Given the description of an element on the screen output the (x, y) to click on. 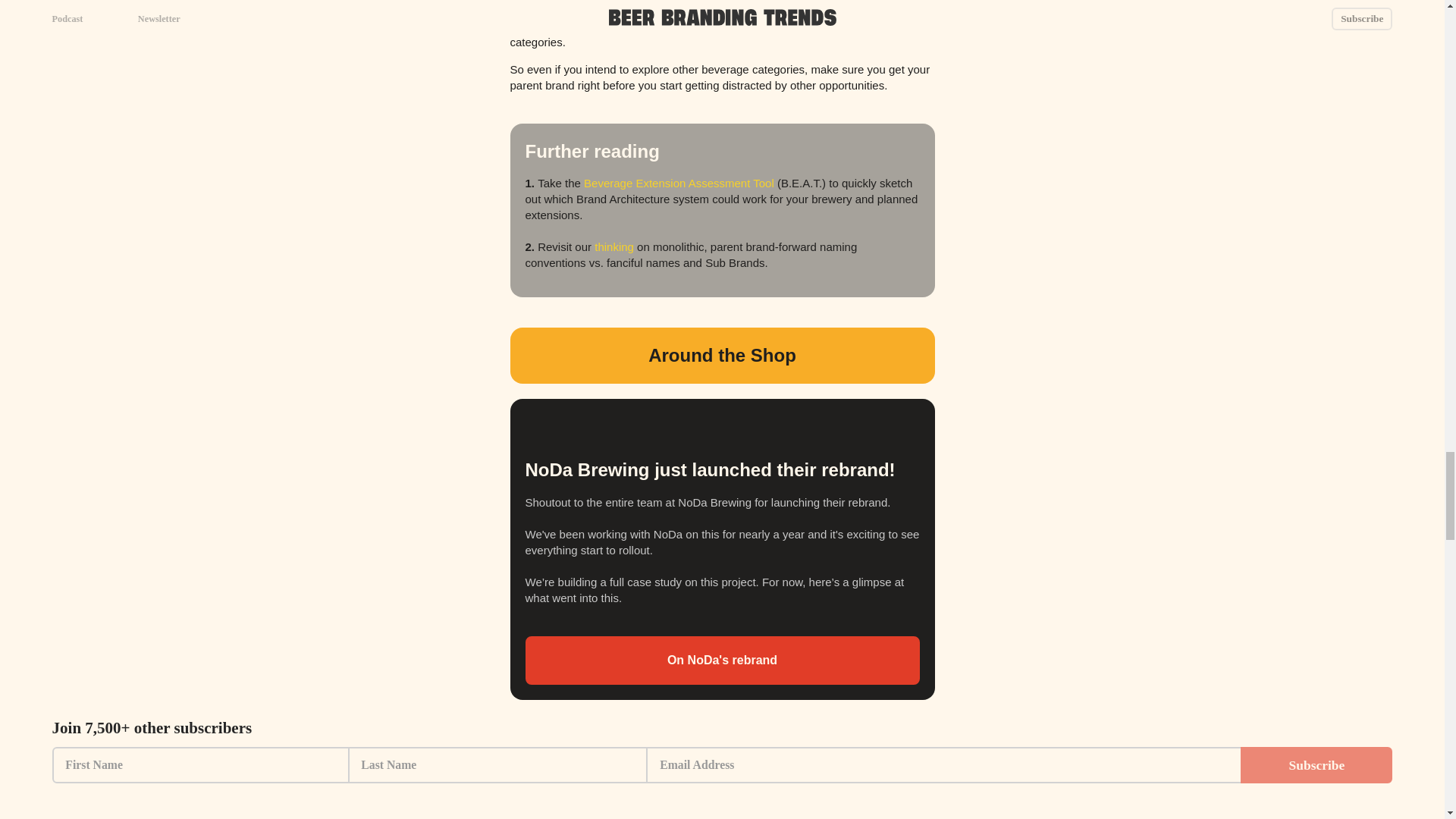
thinking (613, 246)
On NoDa's rebrand (721, 660)
Beverage Extension Assessment Tool (678, 182)
